Given the description of an element on the screen output the (x, y) to click on. 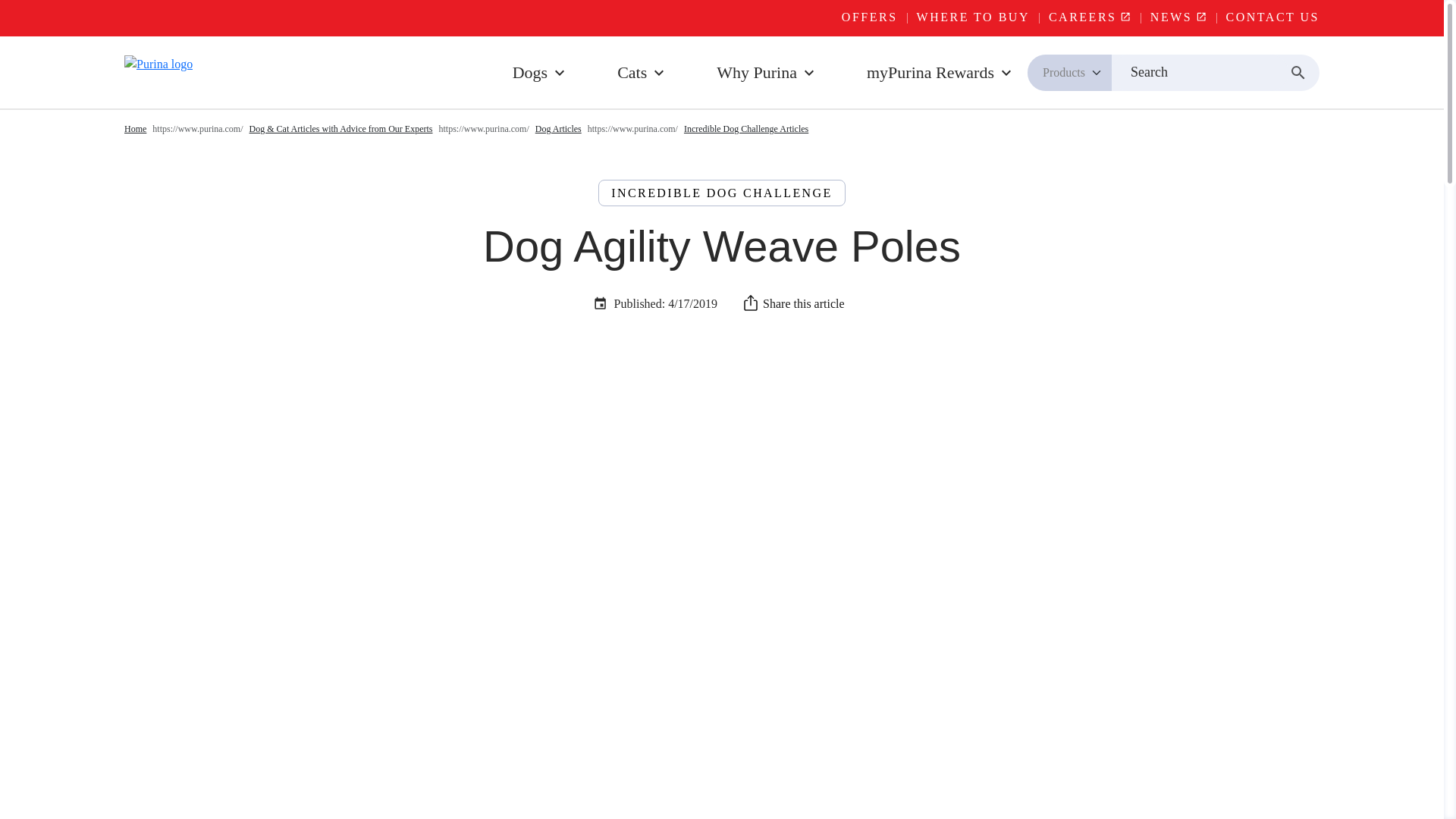
CONTACT US (1272, 17)
WHERE TO BUY (973, 17)
Dogs (540, 72)
NEWS (1178, 17)
OFFERS (869, 17)
Cats (642, 72)
CAREERS (1089, 17)
